Given the description of an element on the screen output the (x, y) to click on. 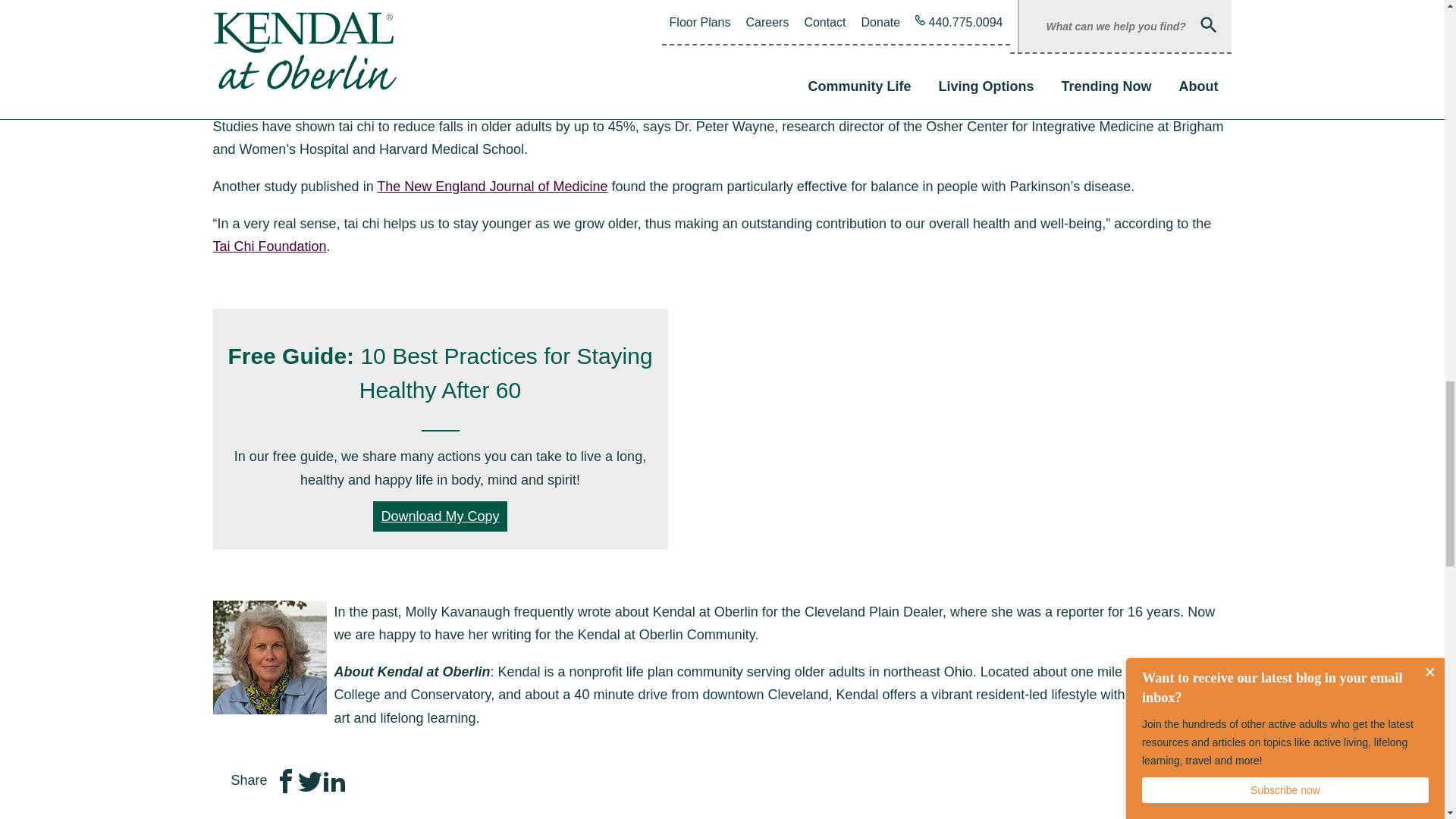
The New England Journal of Medicine (492, 186)
Mayo Clinic (924, 89)
